Given the description of an element on the screen output the (x, y) to click on. 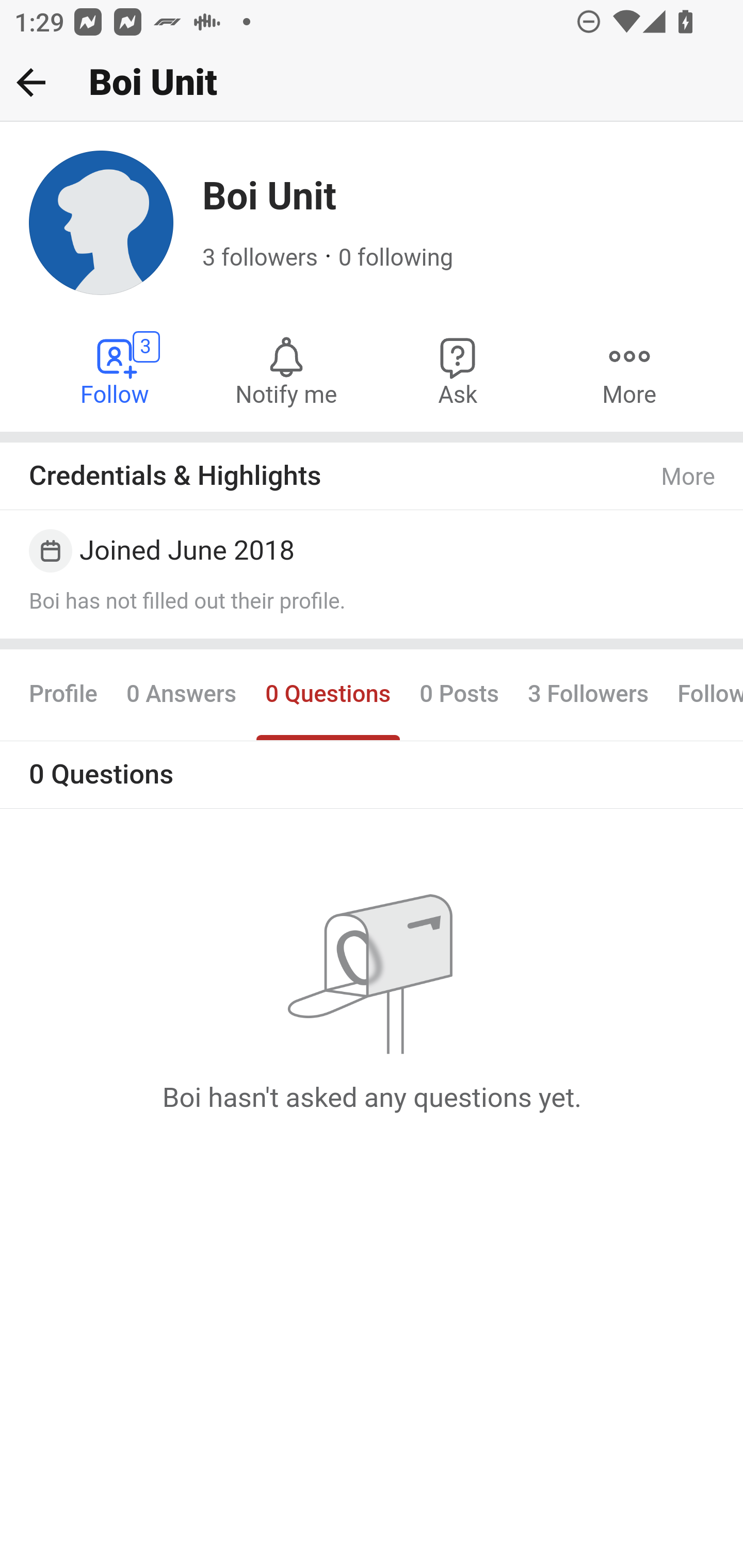
Back Boi Unit (371, 82)
Back (30, 82)
3 followers (260, 257)
0 following (395, 257)
Follow Boi Unit 3 Follow (115, 370)
Notify me (285, 370)
Ask (458, 370)
More (628, 370)
More (688, 477)
Profile (63, 694)
0 Answers (180, 694)
0 Questions (327, 694)
0 Posts (459, 694)
3 Followers (588, 694)
